Given the description of an element on the screen output the (x, y) to click on. 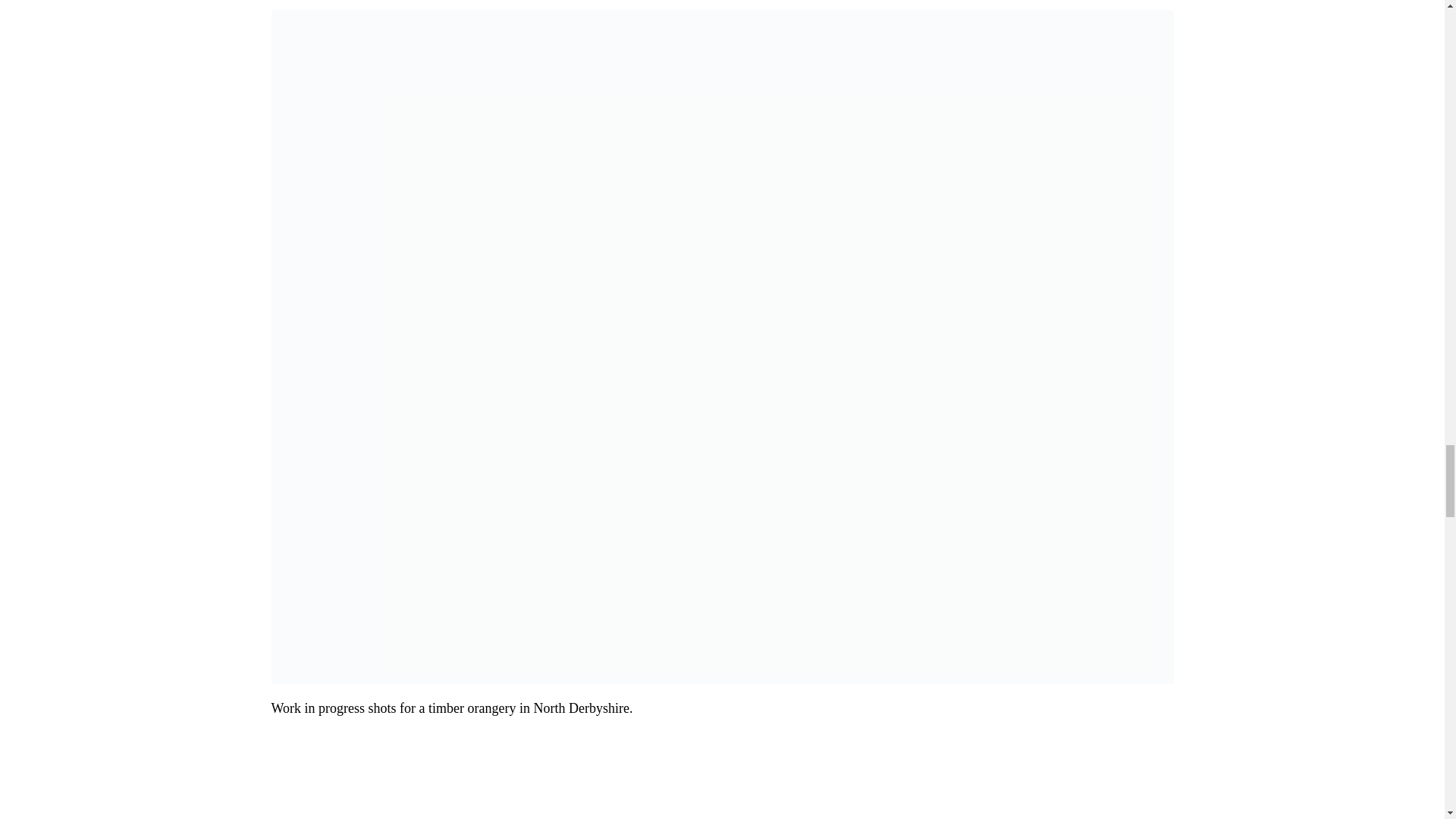
Orangery in North Derbyshire (721, 345)
